Given the description of an element on the screen output the (x, y) to click on. 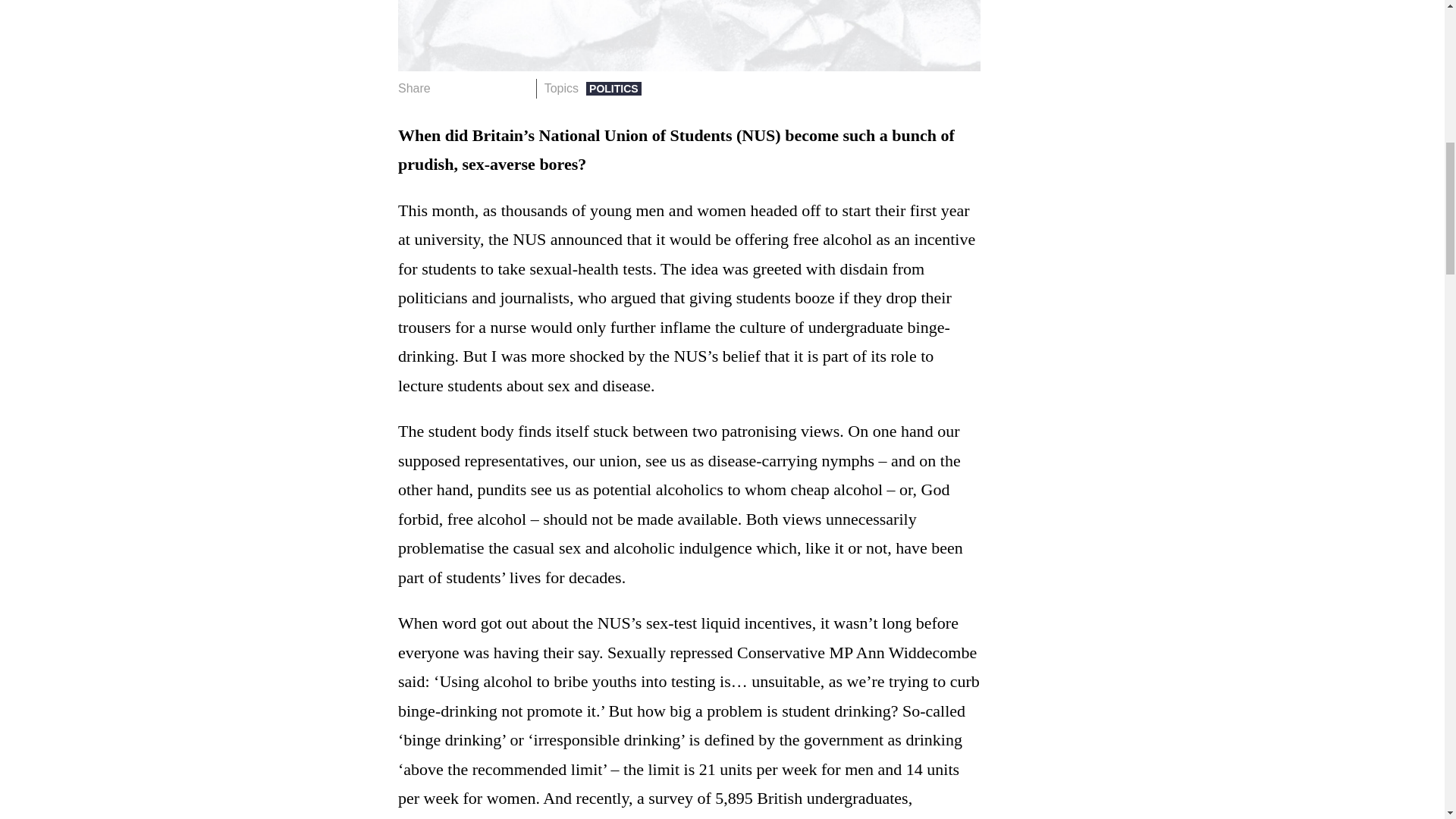
Share on Twitter (471, 88)
Share on Email (518, 88)
Share on Facebook (448, 88)
Share on Whatsapp (494, 88)
